Given the description of an element on the screen output the (x, y) to click on. 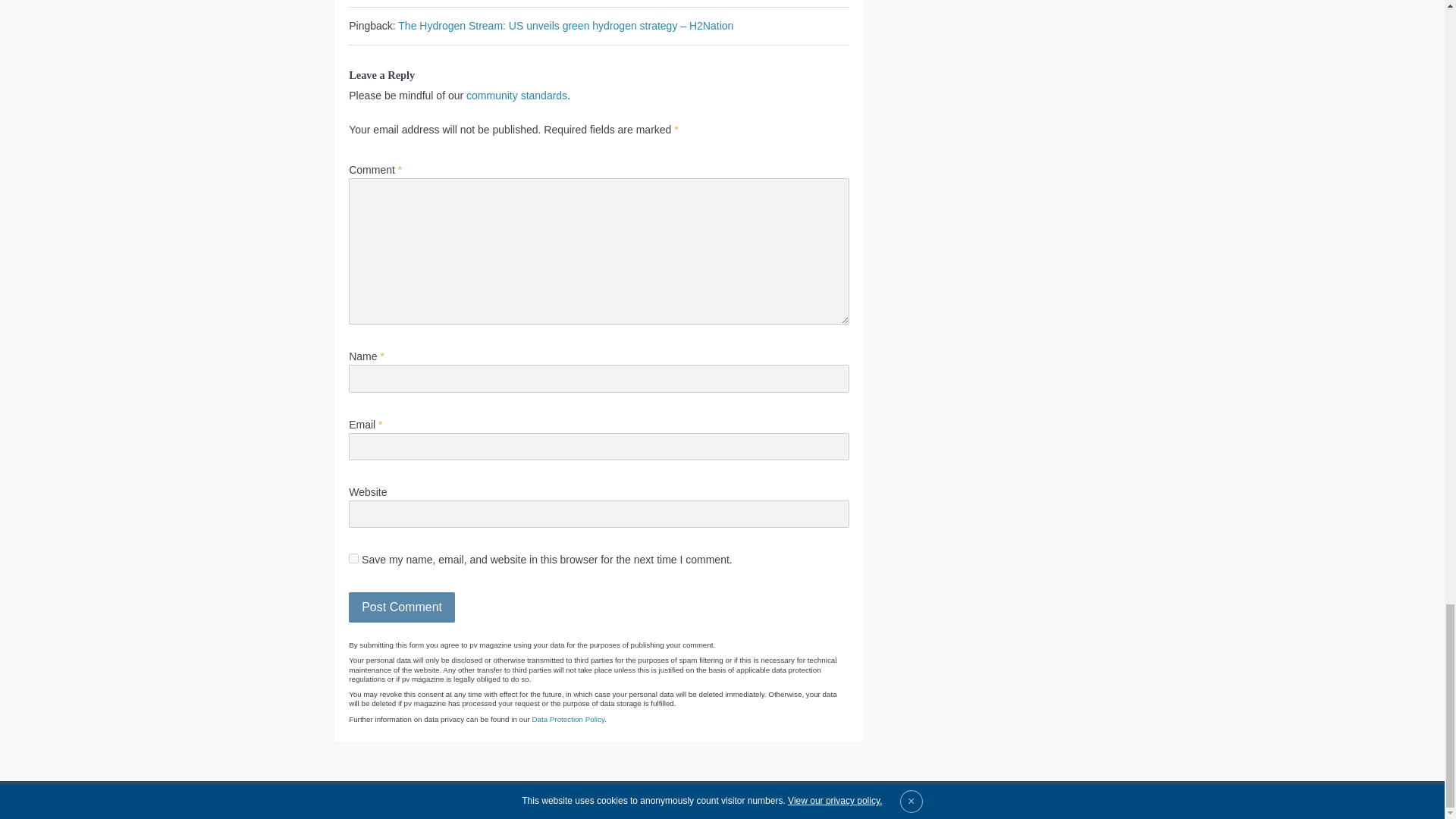
yes (353, 558)
Post Comment (401, 607)
